Given the description of an element on the screen output the (x, y) to click on. 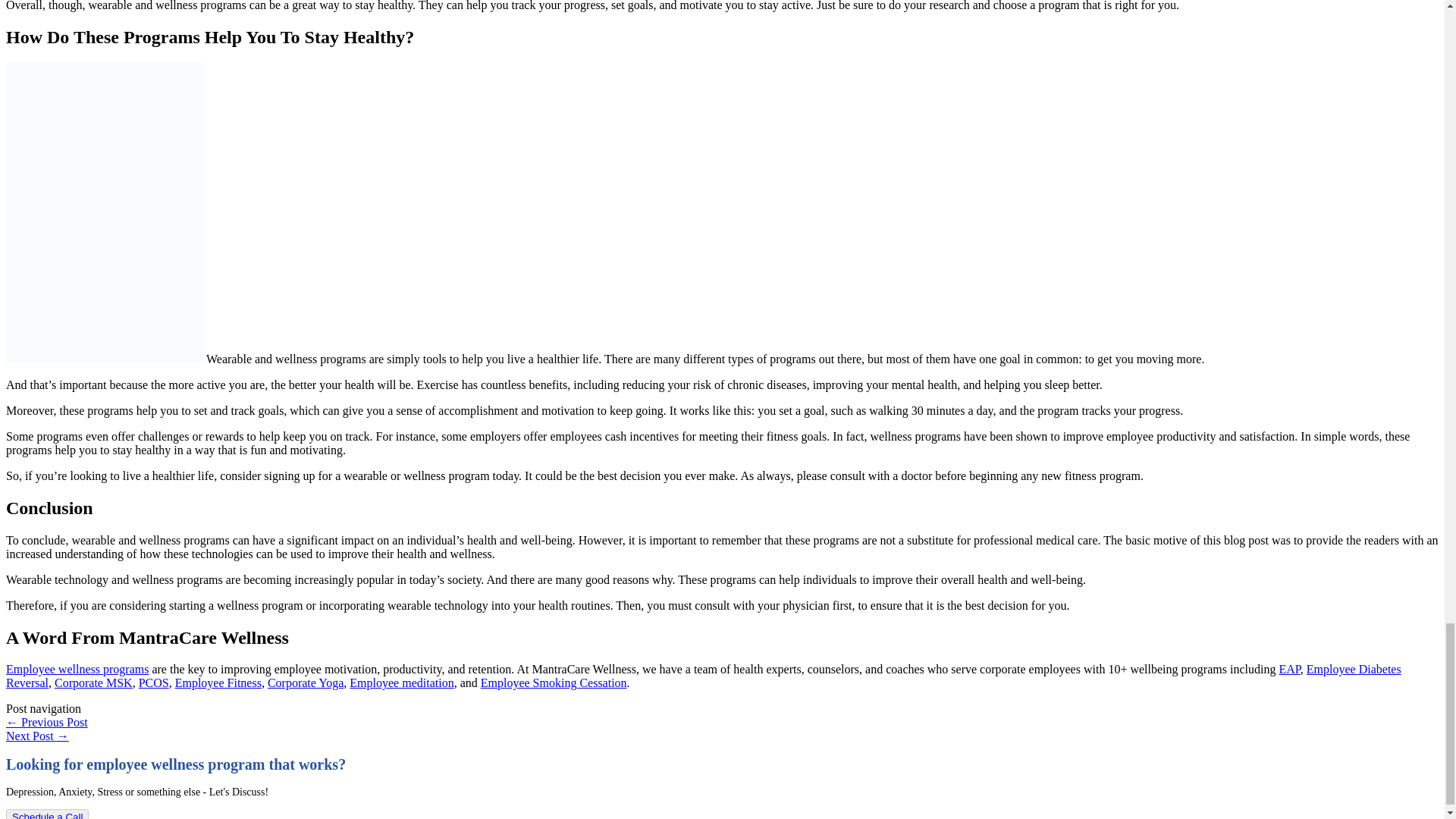
Employee wellness programs (76, 668)
EAP (1289, 668)
Employee Smoking Cessation (553, 682)
Employee Fitness (218, 682)
Employee wellness programs (76, 668)
Corporate MSK (93, 682)
Employee Diabetes Reversal (702, 675)
PCOS (153, 682)
Employee meditation (400, 682)
Corporate Yoga (305, 682)
